Given the description of an element on the screen output the (x, y) to click on. 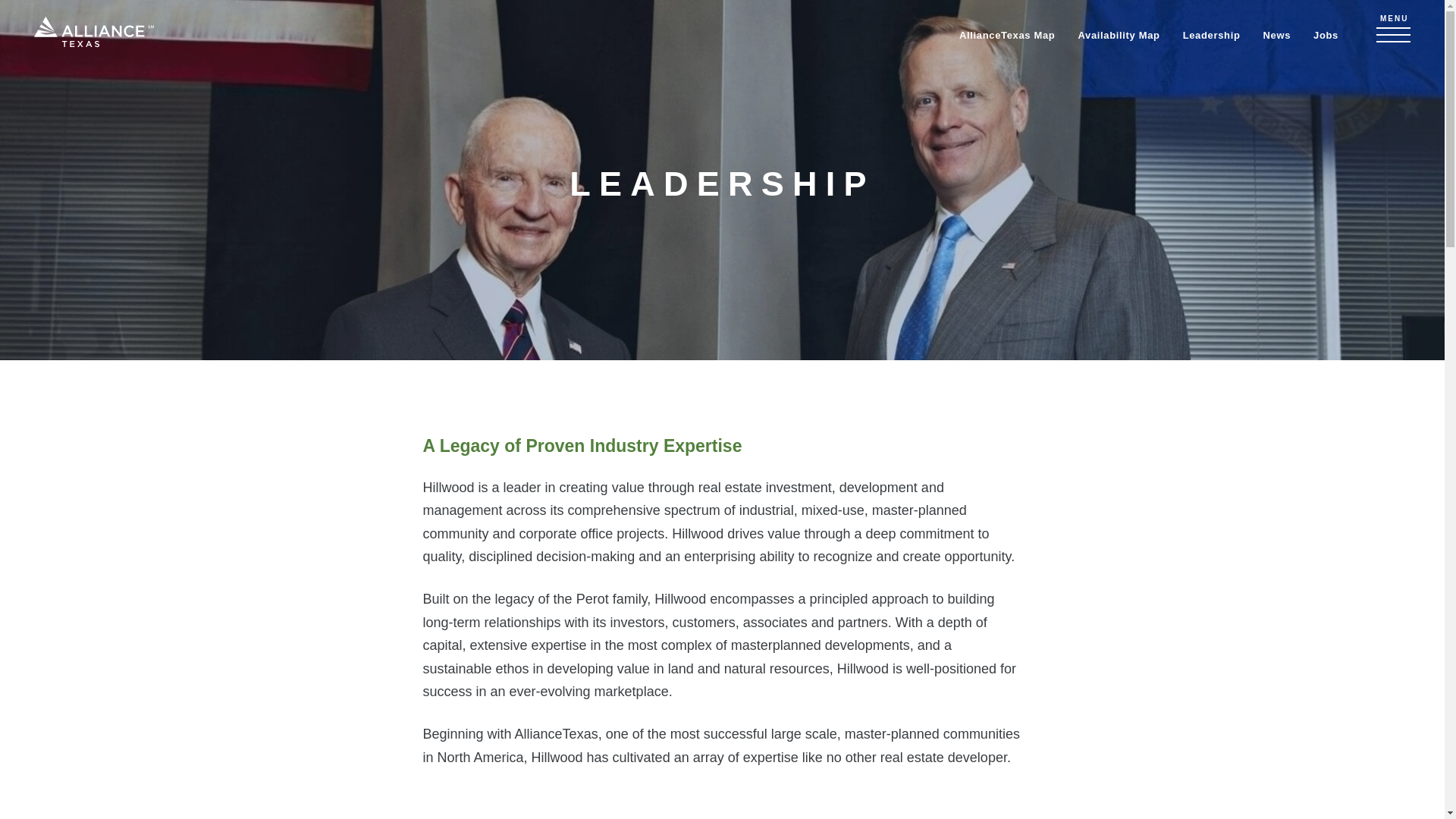
News (1276, 34)
Availability Map (1117, 34)
AllianceTexas Map (1006, 34)
Jobs (1325, 34)
Leadership (1211, 34)
